Given the description of an element on the screen output the (x, y) to click on. 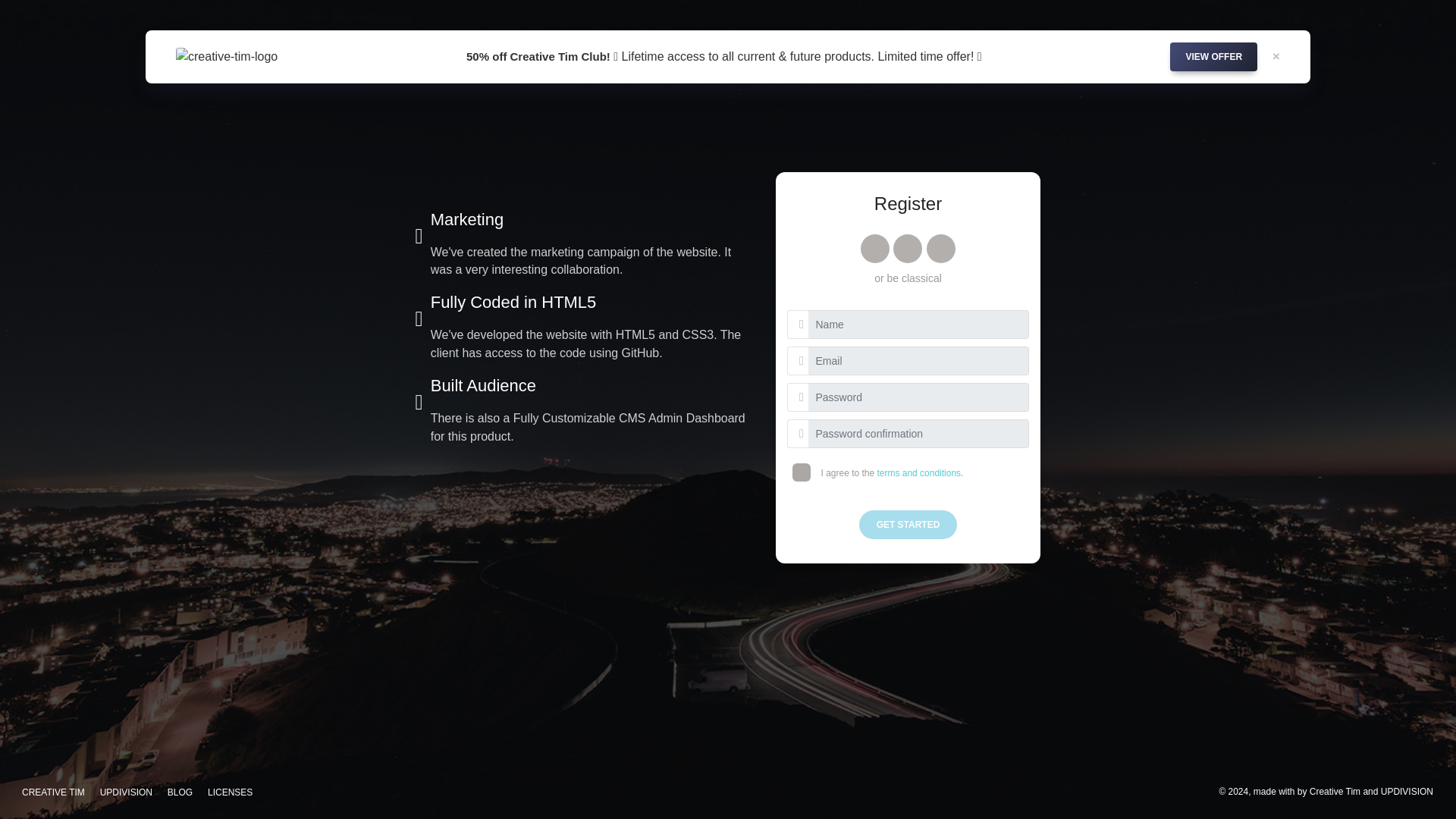
BLOG (179, 792)
GET STARTED (908, 524)
Register (1049, 42)
Login (1117, 42)
Creative Tim (1333, 791)
Dashboard (966, 42)
UPDIVISION (126, 792)
VIEW OFFER (1213, 56)
Paper Dashboard (366, 42)
terms and conditions (918, 472)
UPDIVISION (1406, 791)
LICENSES (230, 792)
CREATIVE TIM (53, 792)
